Given the description of an element on the screen output the (x, y) to click on. 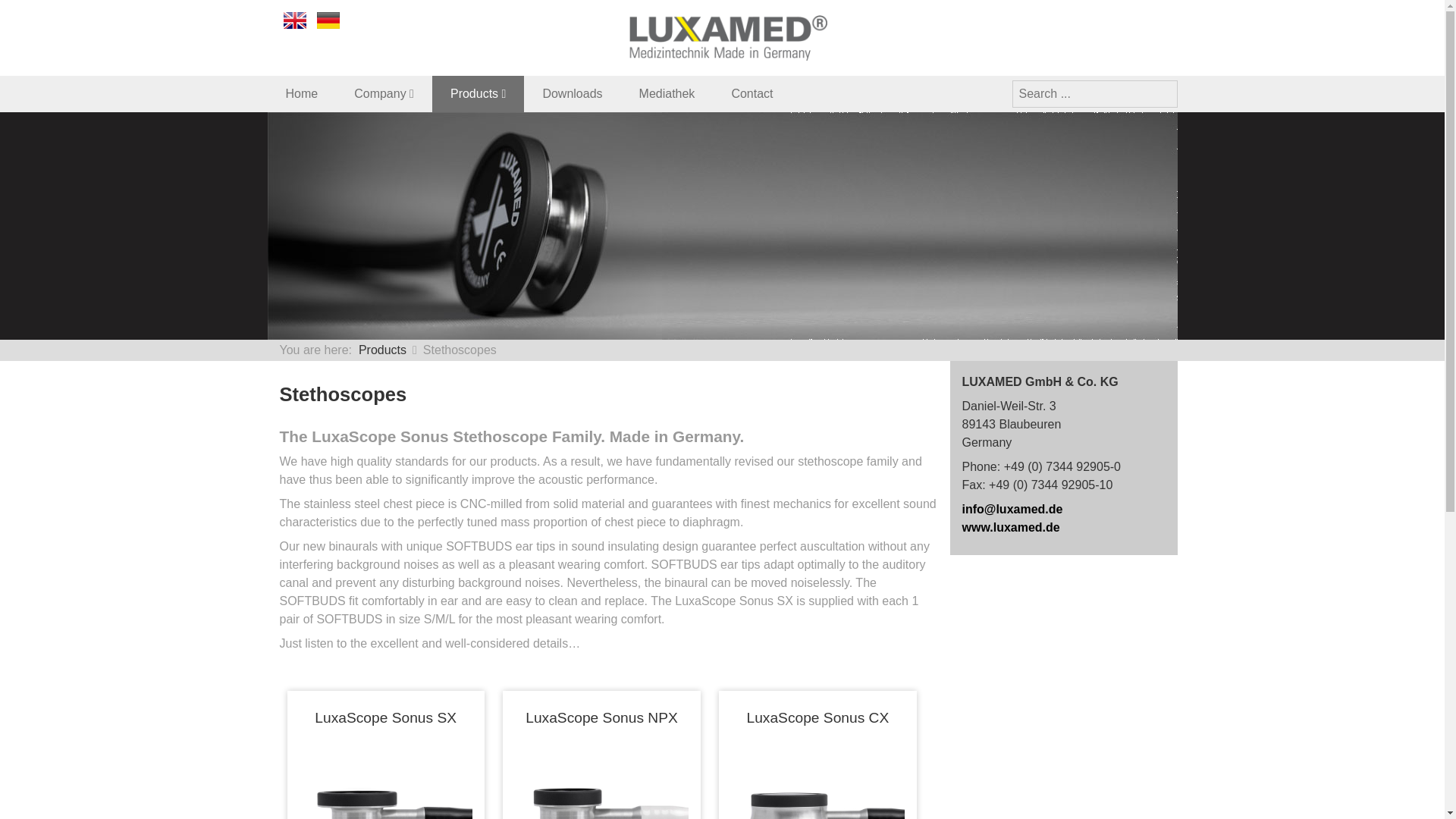
Products (478, 94)
Company (384, 94)
Home (301, 94)
Deutsch (328, 20)
